Given the description of an element on the screen output the (x, y) to click on. 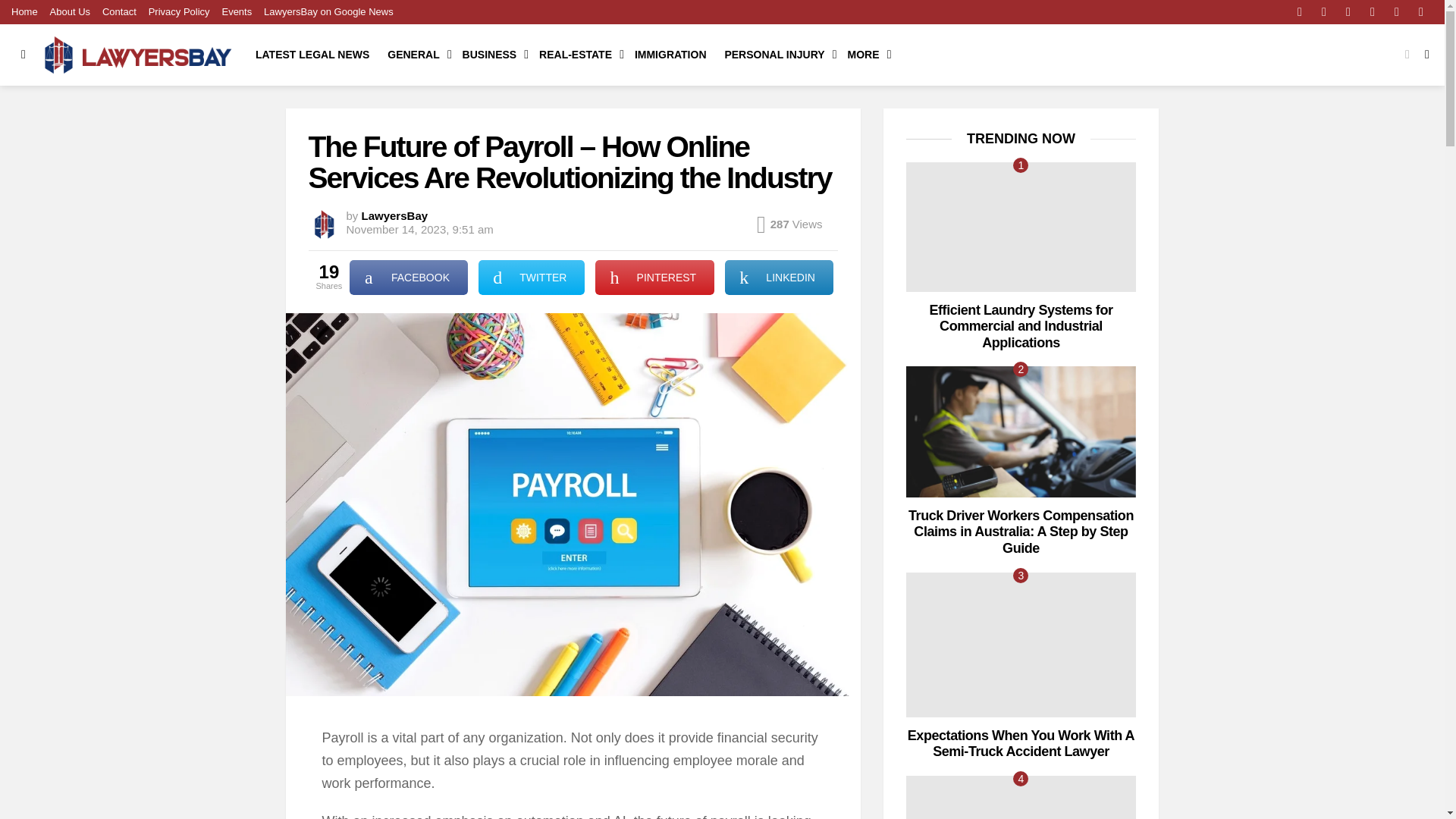
Events (236, 12)
REAL-ESTATE (577, 54)
Home (24, 12)
About Us (69, 12)
GENERAL (415, 54)
Posts by LawyersBay (394, 215)
Twitter (1323, 11)
Contact (118, 12)
YouTube (1420, 11)
Share on Pinterest (654, 277)
